Given the description of an element on the screen output the (x, y) to click on. 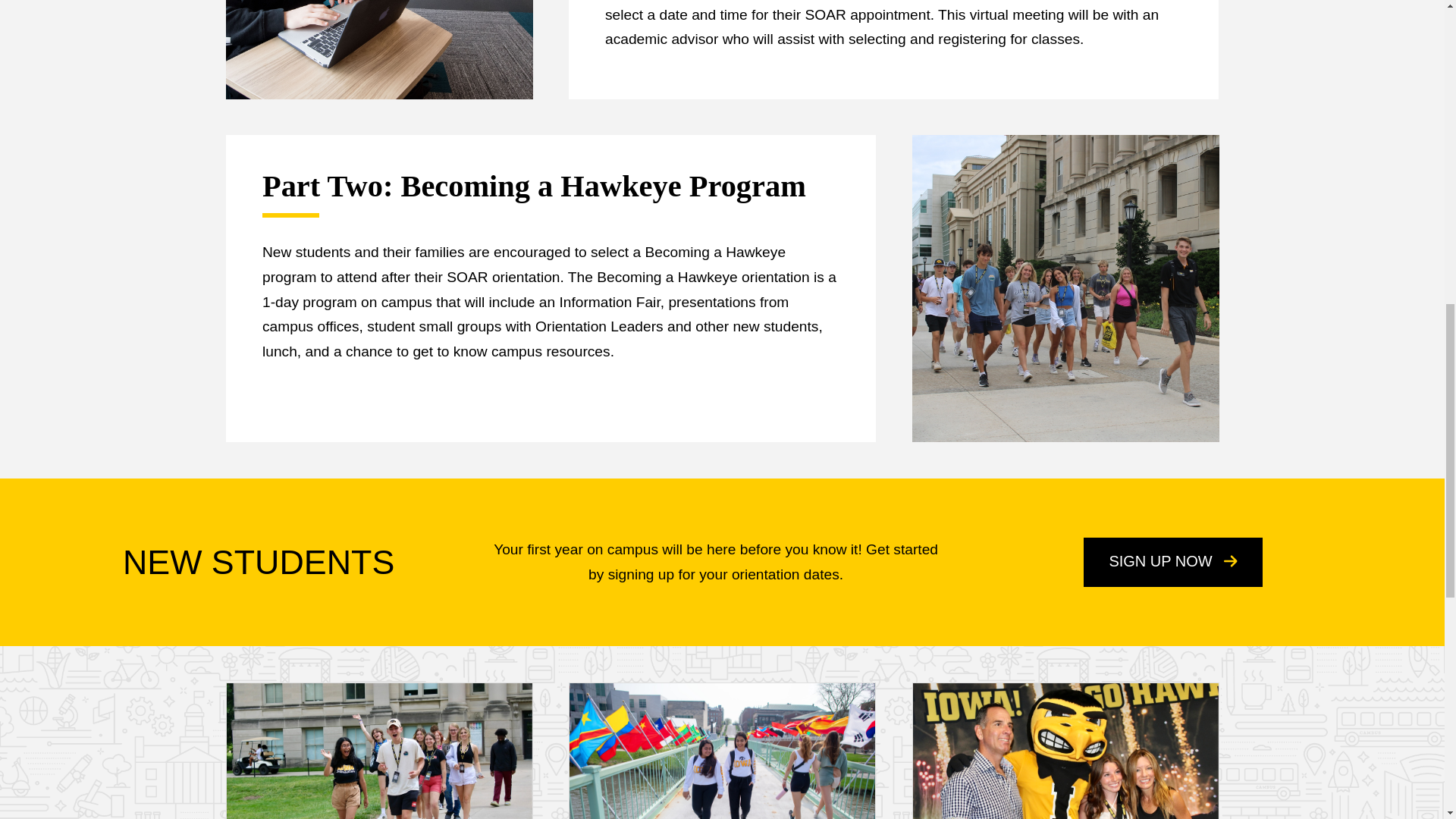
SIGN UP NOW (1172, 562)
